Given the description of an element on the screen output the (x, y) to click on. 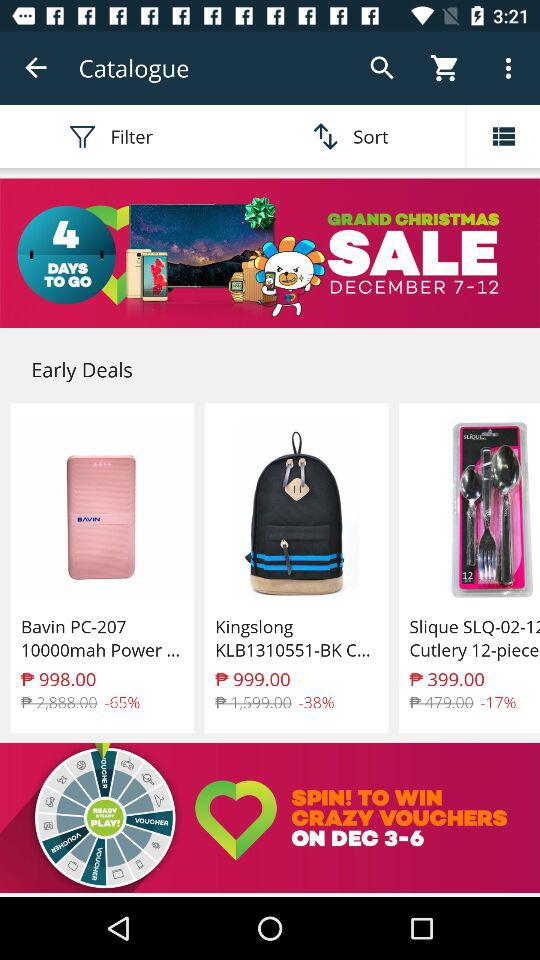
menu (503, 136)
